Given the description of an element on the screen output the (x, y) to click on. 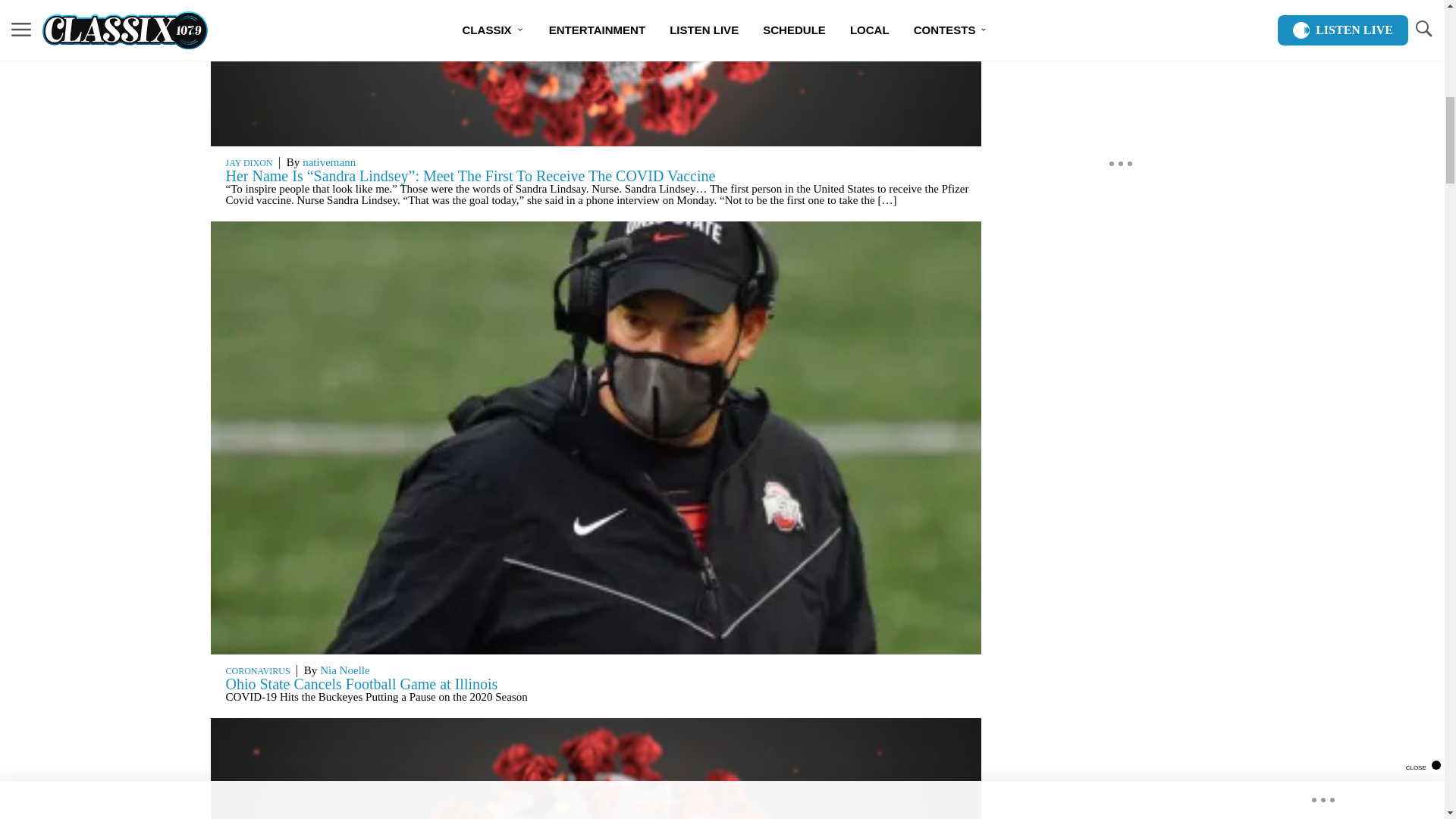
Nia Noelle (344, 670)
JAY DIXON (249, 163)
CORONAVIRUS (257, 670)
Ohio State Cancels Football Game at Illinois (361, 683)
nativemann (328, 162)
